Given the description of an element on the screen output the (x, y) to click on. 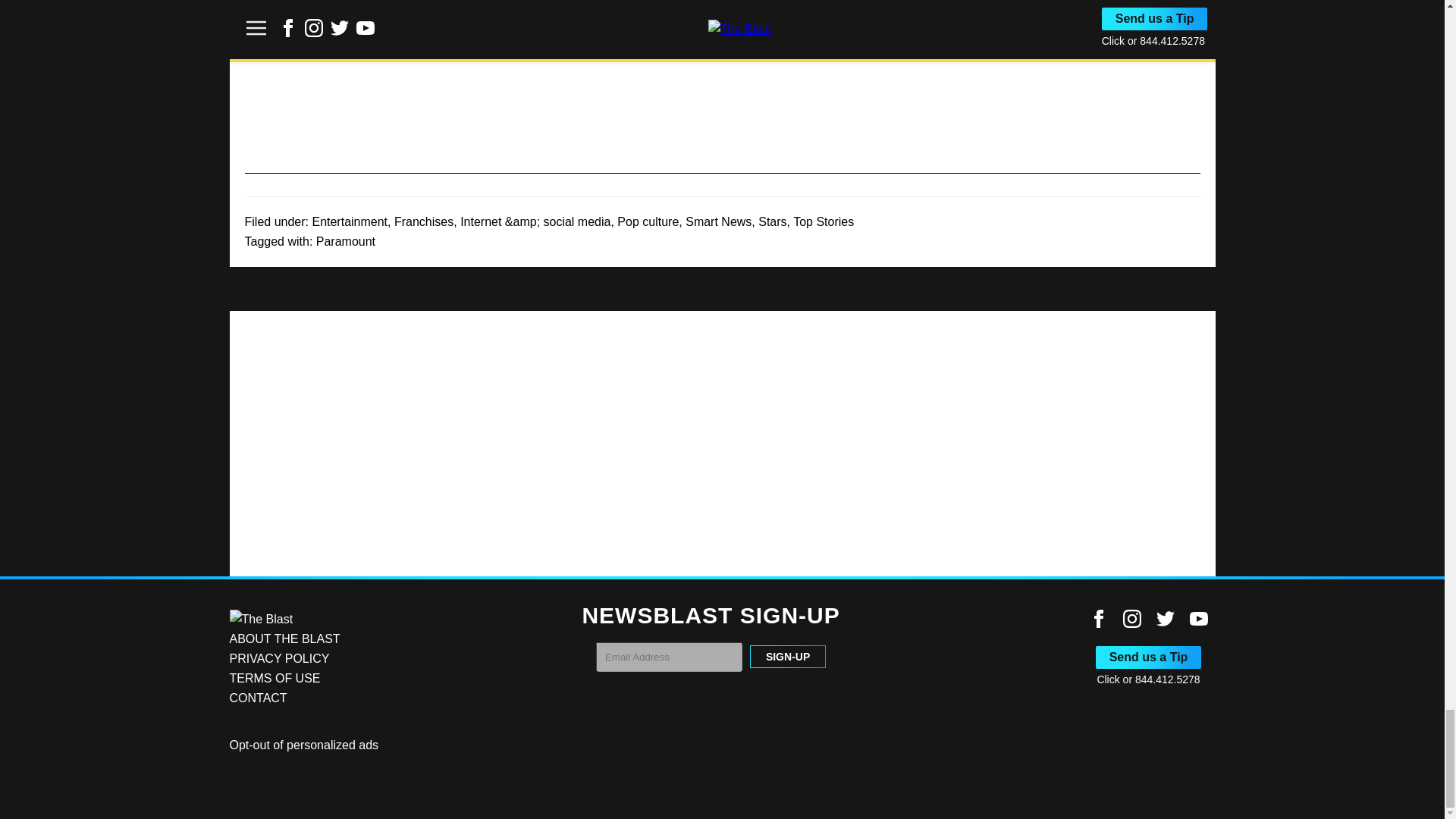
Link to Twitter (1164, 618)
Paramount (345, 241)
Stars (772, 221)
Franchises (423, 221)
SIGN-UP (787, 656)
Entertainment (349, 221)
Link to Youtube (1198, 618)
SIGN-UP (787, 656)
CONTACT (257, 697)
Pop culture (647, 221)
